Given the description of an element on the screen output the (x, y) to click on. 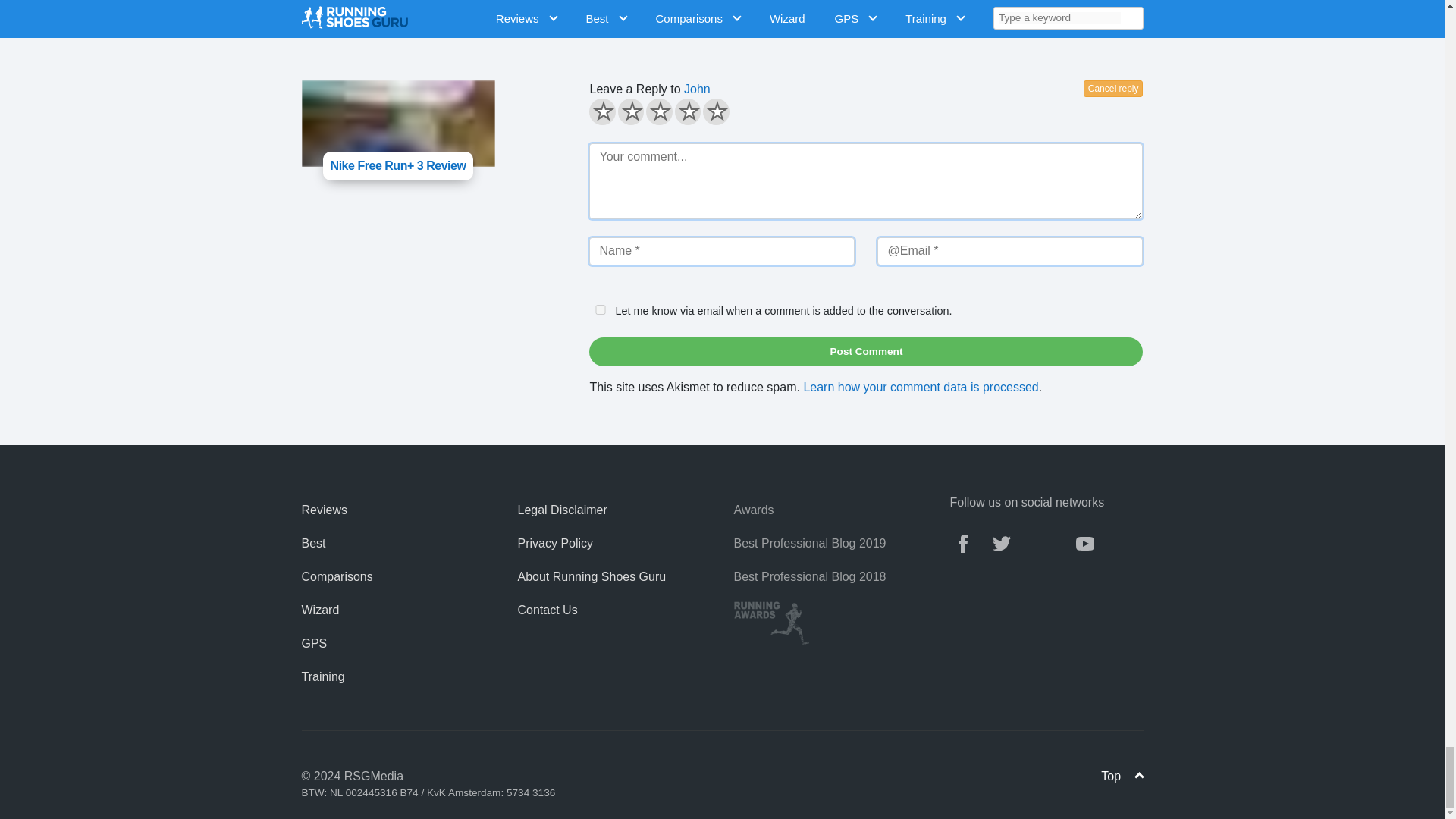
1 (593, 103)
5 (593, 103)
Post Comment (865, 351)
3 (593, 103)
2 (593, 103)
4 (593, 103)
yes (600, 309)
